Given the description of an element on the screen output the (x, y) to click on. 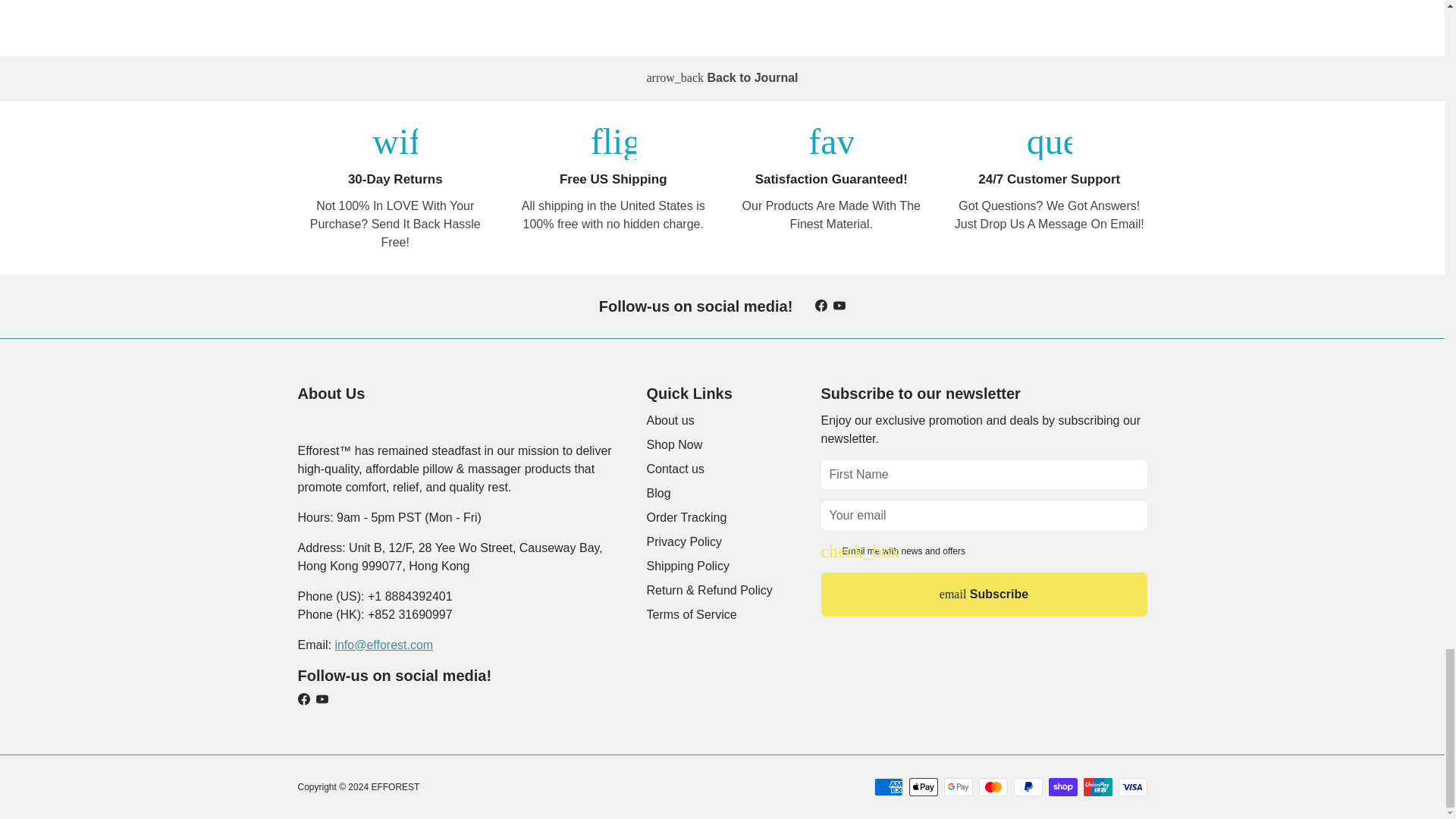
EFFOREST on Youtube (838, 305)
PayPal (1027, 786)
Visa (1132, 786)
Mastercard (992, 786)
Google Pay (957, 786)
Apple Pay (922, 786)
Shop Pay (1062, 786)
American Express (887, 786)
EFFOREST on Facebook (821, 305)
Union Pay (1097, 786)
